Given the description of an element on the screen output the (x, y) to click on. 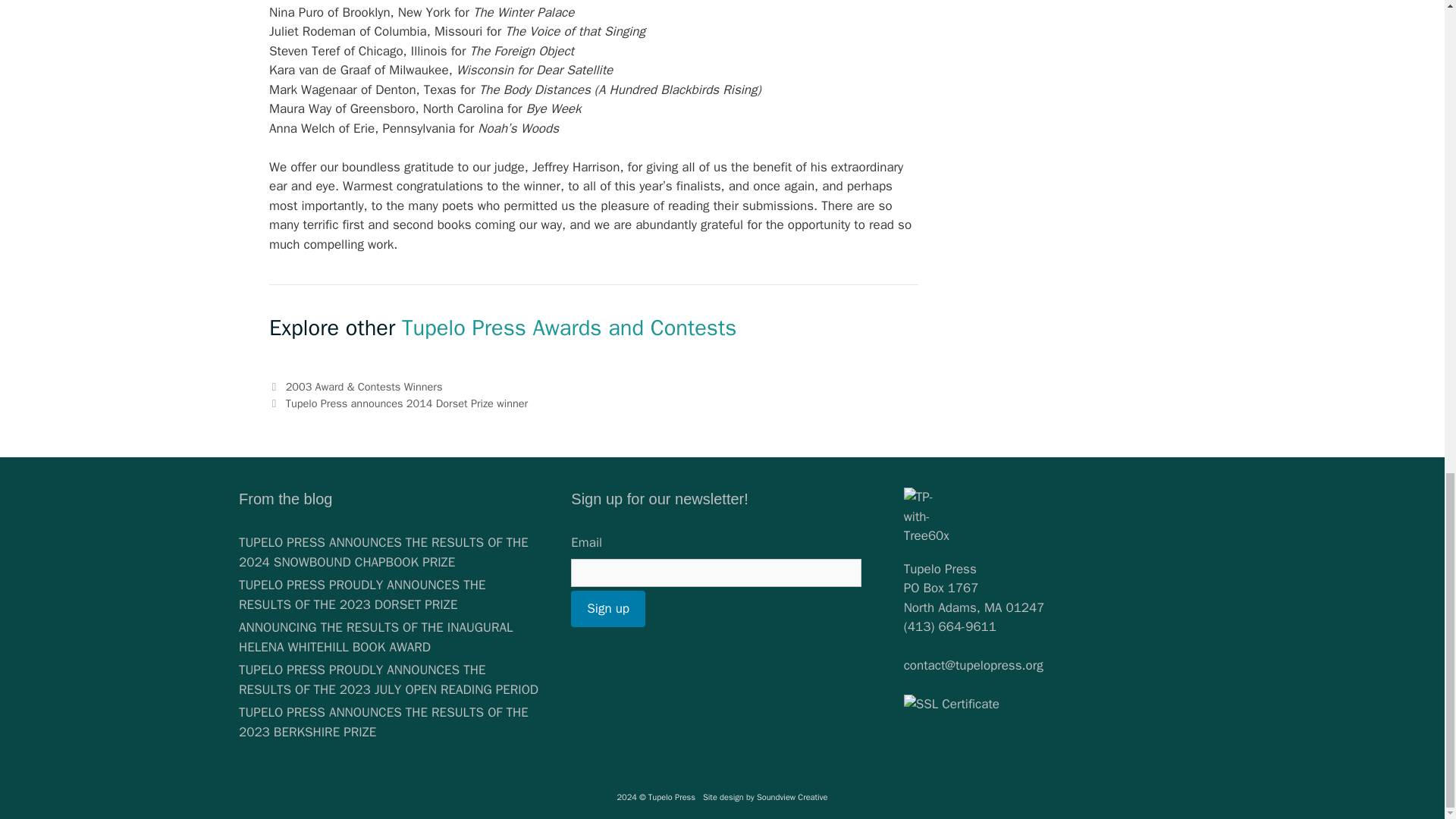
Sign up (607, 608)
